Given the description of an element on the screen output the (x, y) to click on. 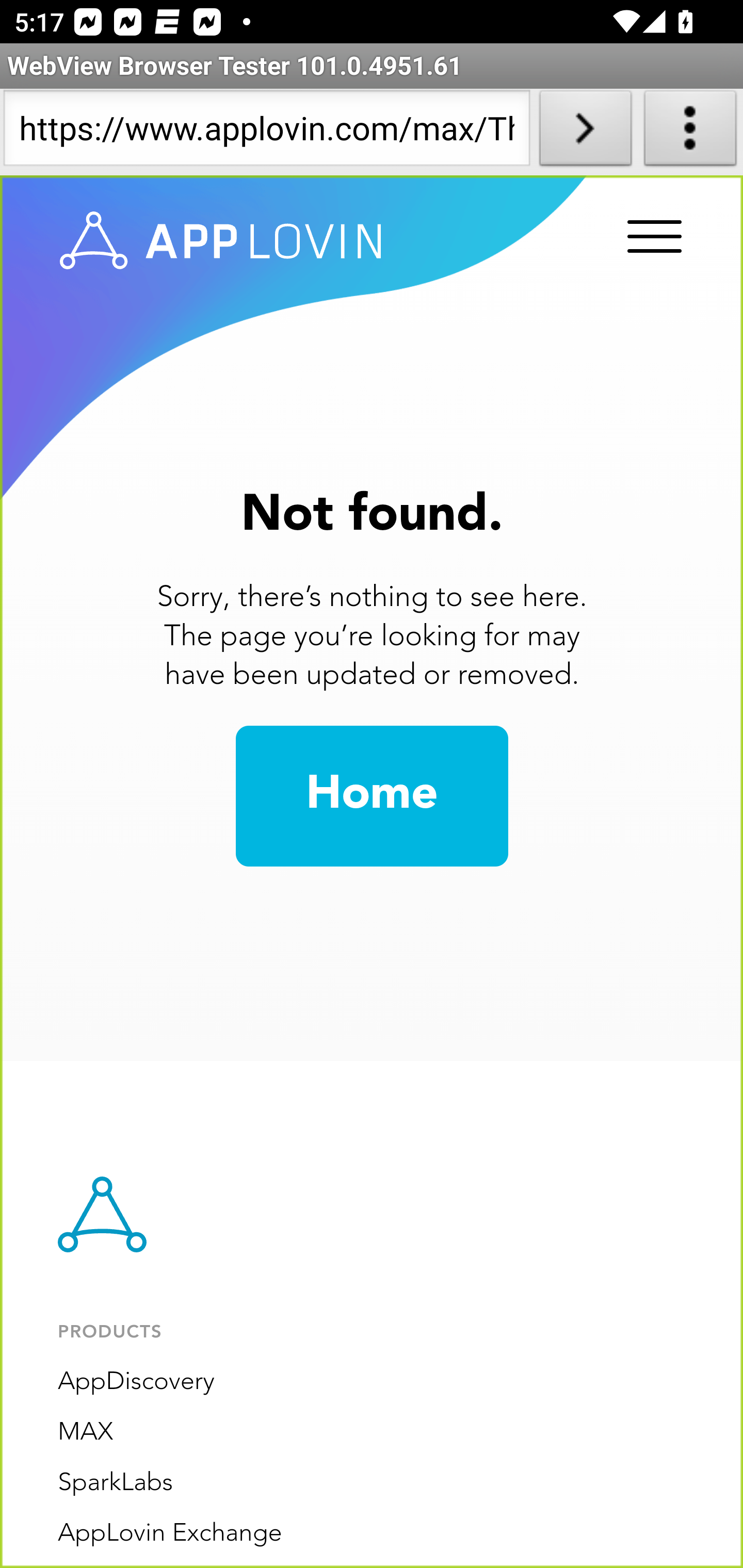
Load URL (585, 132)
About WebView (690, 132)
Menu Trigger (650, 237)
www.applovin (220, 241)
Home (371, 796)
AppDiscovery (135, 1381)
MAX (85, 1432)
SparkLabs (115, 1483)
AppLovin Exchange (170, 1533)
